Given the description of an element on the screen output the (x, y) to click on. 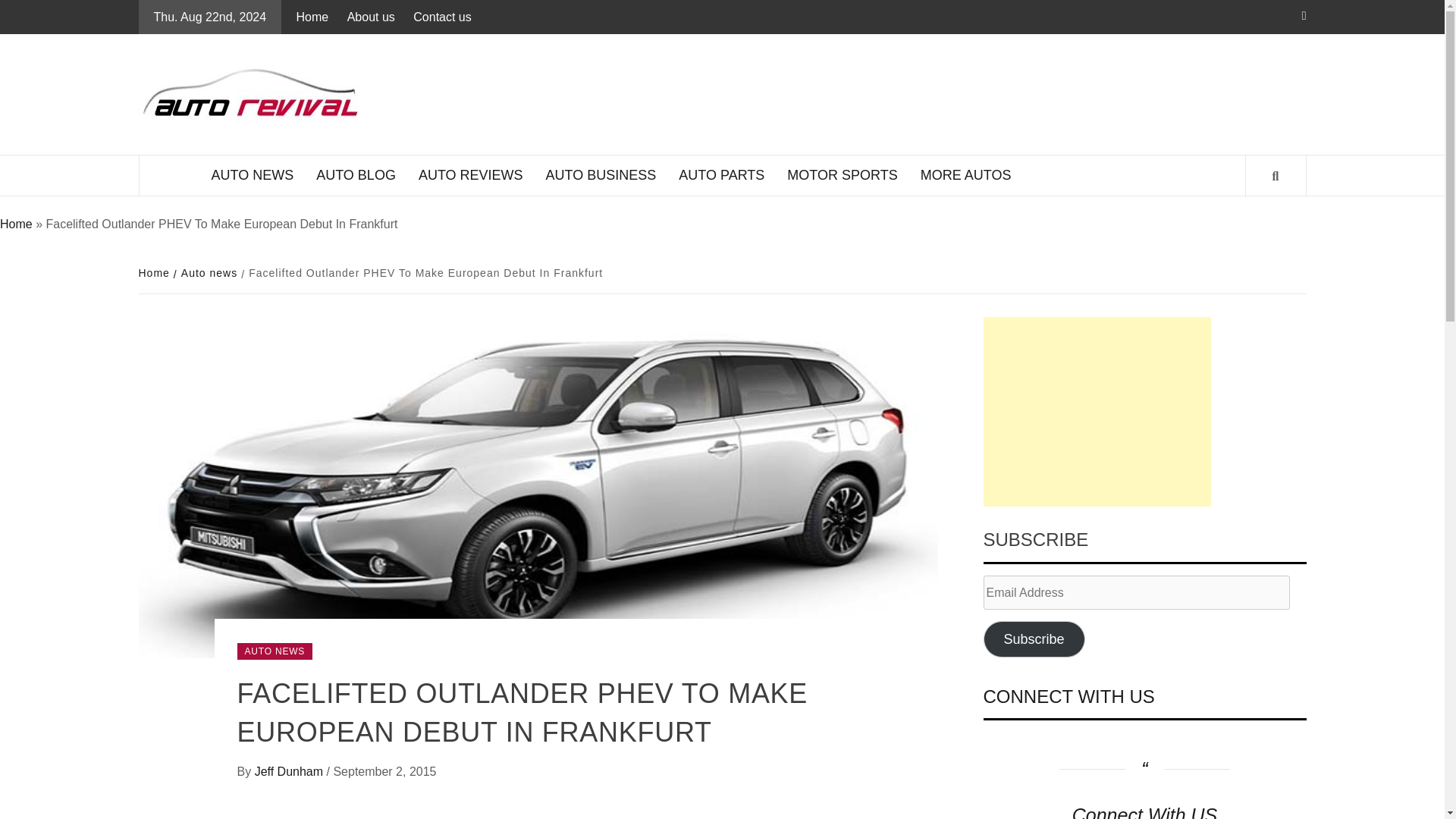
Subscribe (1033, 638)
Advertisement (1095, 411)
Connect With US (1144, 811)
About us (371, 17)
AUTO NEWS (252, 175)
Contact us (442, 17)
Home (316, 17)
AUTO BLOG (355, 175)
Jeff Dunham (290, 771)
Auto news (207, 272)
